Given the description of an element on the screen output the (x, y) to click on. 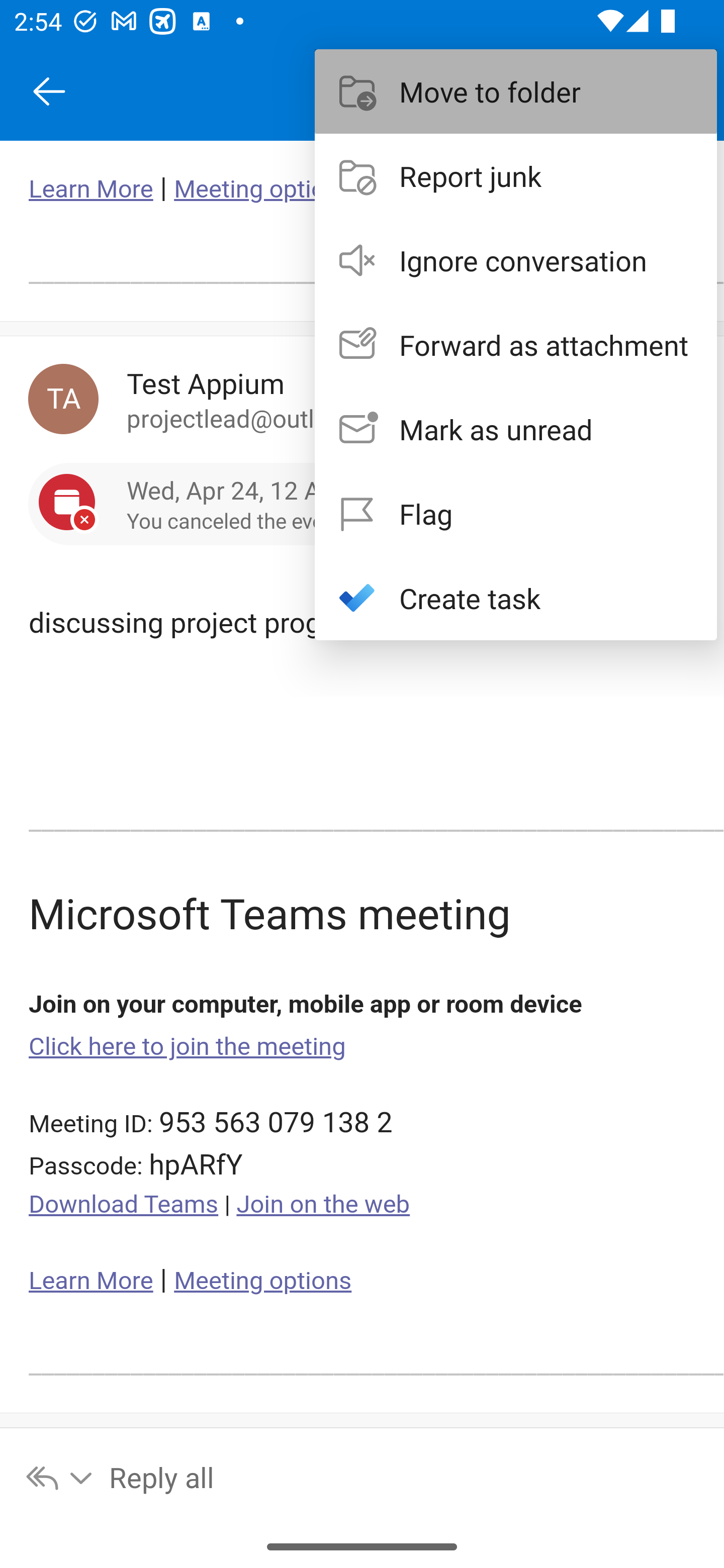
Move to folder (515, 90)
Report junk (515, 175)
Ignore conversation (515, 259)
Forward as attachment (515, 344)
Mark as unread (515, 429)
Flag (515, 513)
Create task (515, 597)
